Given the description of an element on the screen output the (x, y) to click on. 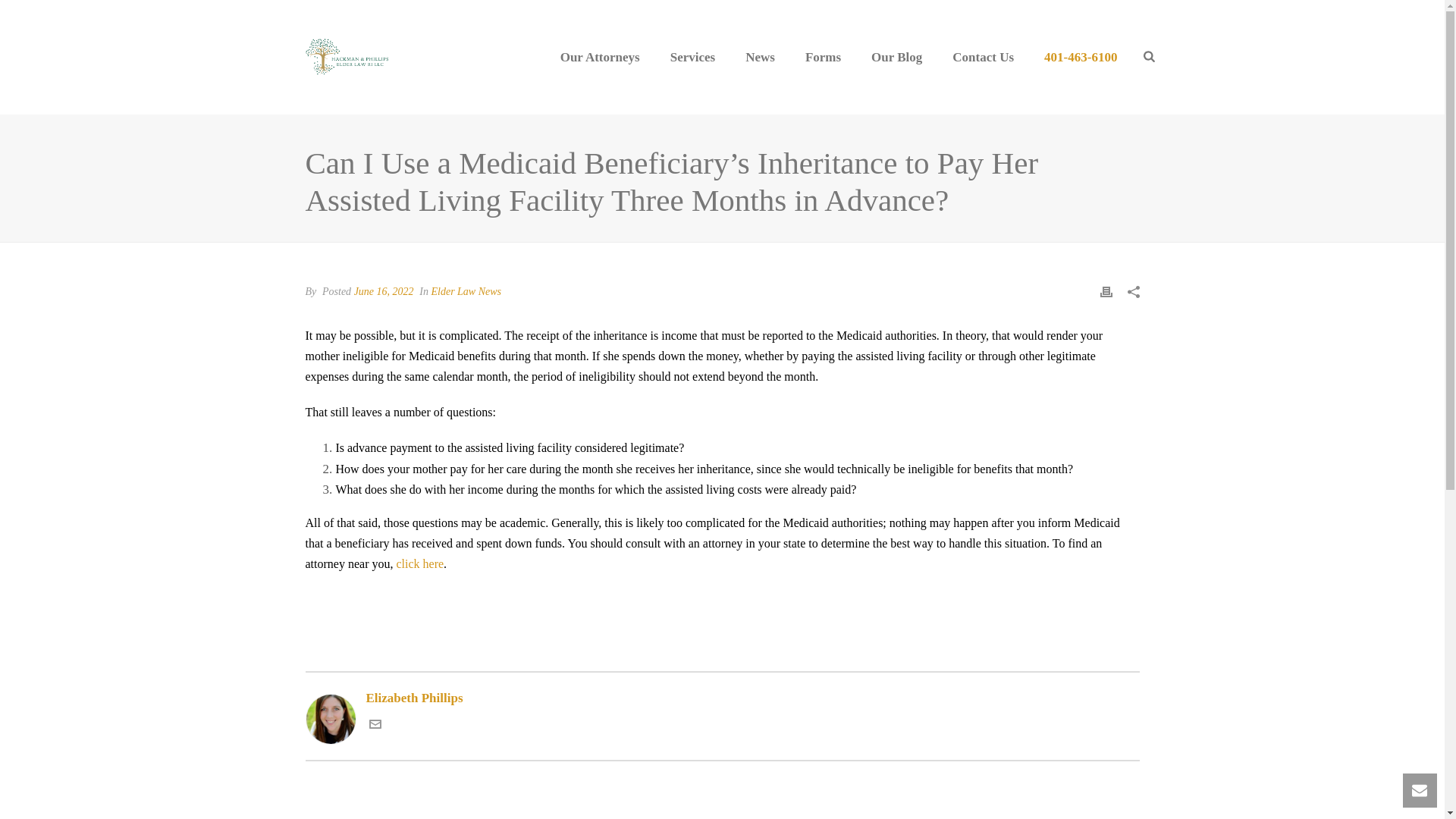
click here (420, 563)
News (760, 57)
Our Attorneys (599, 57)
Contact Us (983, 57)
Forms (823, 57)
Our Blog (896, 57)
Services (692, 57)
401-463-6100 (1080, 57)
June 16, 2022 (383, 291)
News (760, 57)
